Given the description of an element on the screen output the (x, y) to click on. 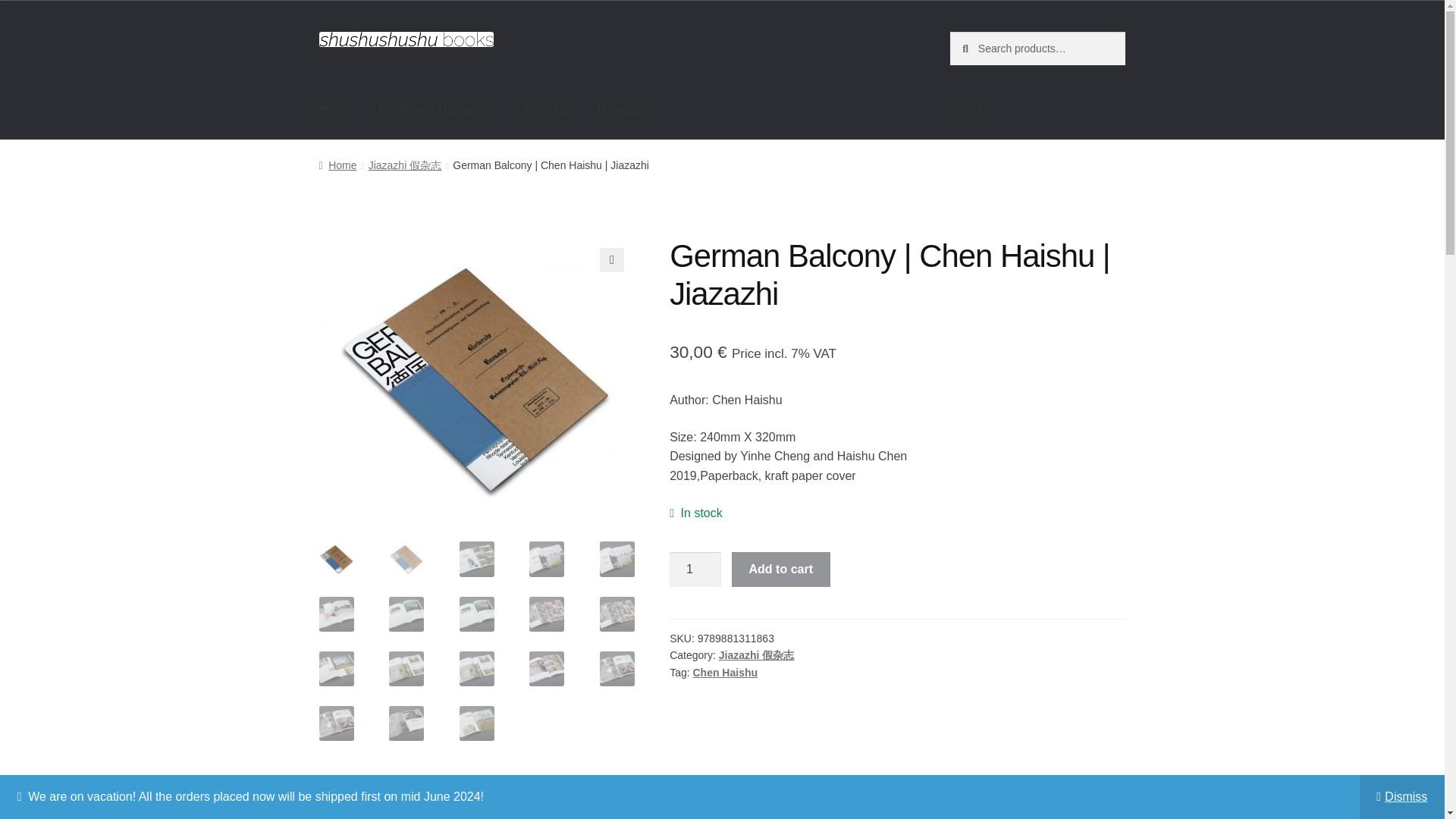
GermanBalcony (792, 379)
Publishing Houses (437, 109)
Home (335, 109)
Home (337, 164)
Meet Us (545, 109)
1 (694, 569)
View your shopping cart (1037, 109)
GermanBalcony (476, 379)
